Given the description of an element on the screen output the (x, y) to click on. 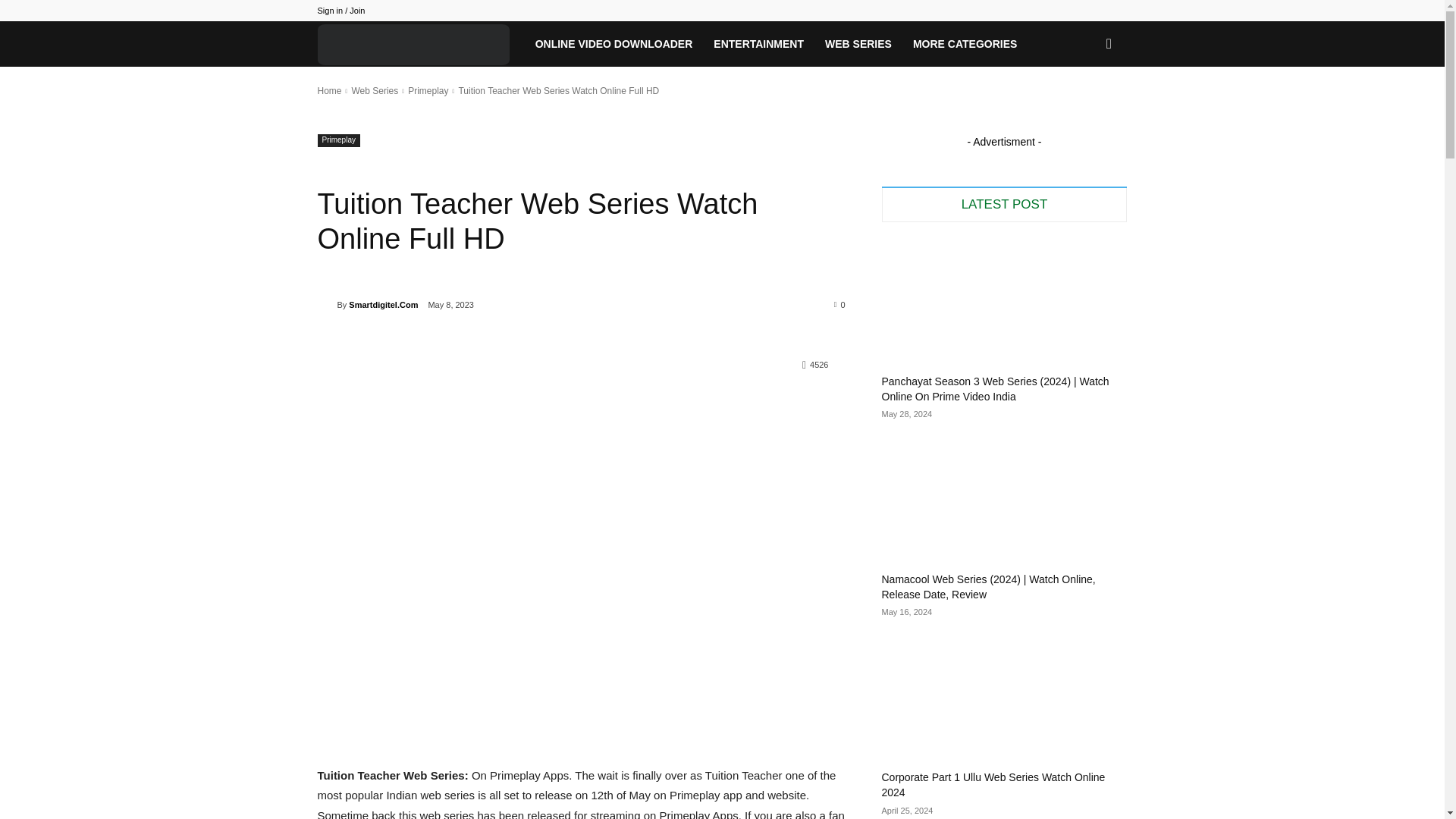
Smartdigitel.Com (326, 304)
View all posts in Primeplay (427, 90)
ONLINE VIDEO DOWNLOADER (613, 43)
View all posts in Web Series (373, 90)
